Given the description of an element on the screen output the (x, y) to click on. 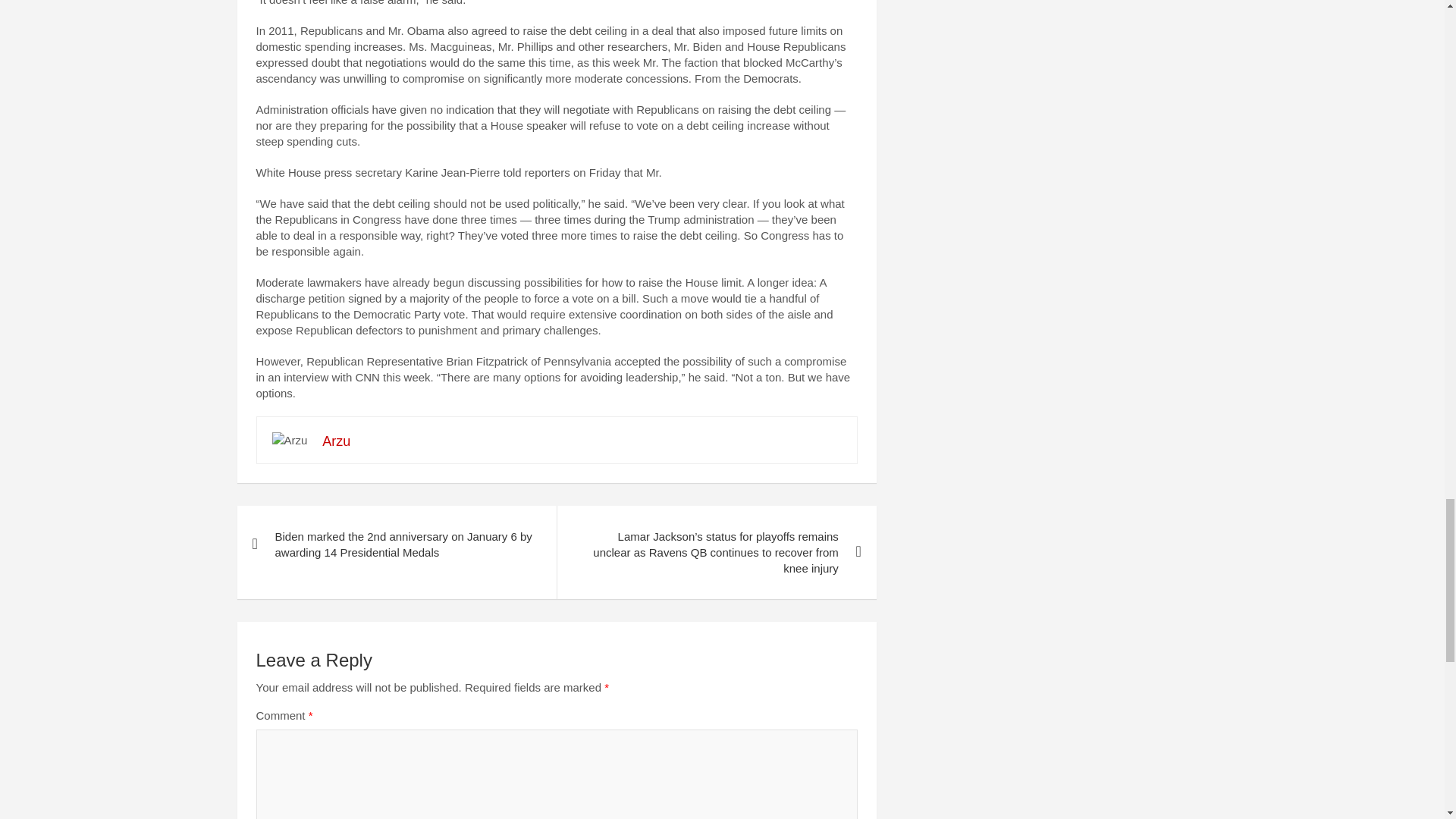
Arzu (335, 441)
